Given the description of an element on the screen output the (x, y) to click on. 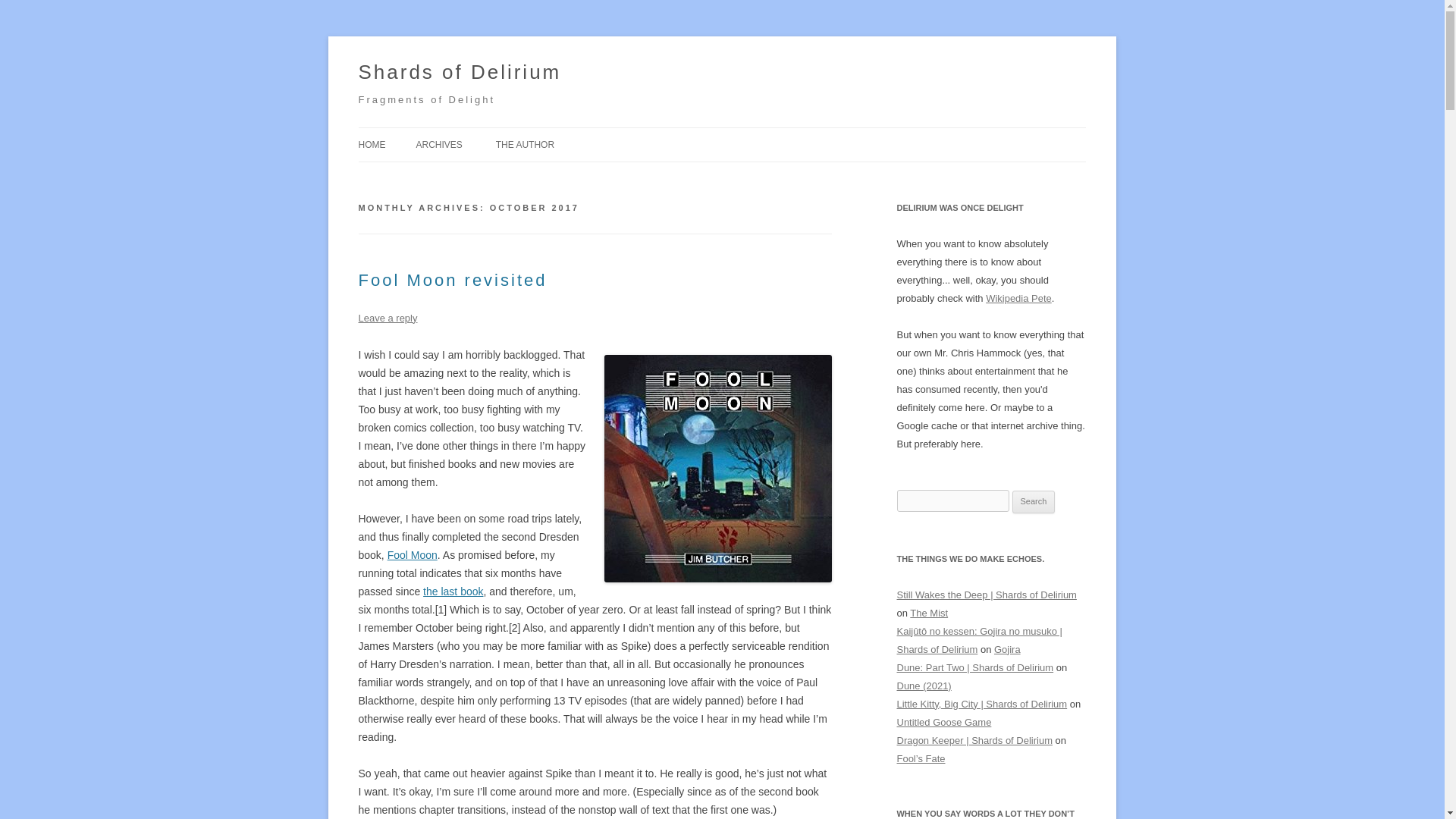
The Mist (928, 613)
Wikipedia Pete (1018, 297)
Fool Moon revisited (452, 280)
Untitled Goose Game (943, 722)
Gojira (1007, 649)
Search (1033, 501)
Search (1033, 501)
Leave a reply (387, 317)
Shards of Delirium (459, 72)
the last book (453, 591)
My review of the Storm Front audiobook (453, 591)
Fool Moon (412, 554)
THE AUTHOR (525, 144)
